Given the description of an element on the screen output the (x, y) to click on. 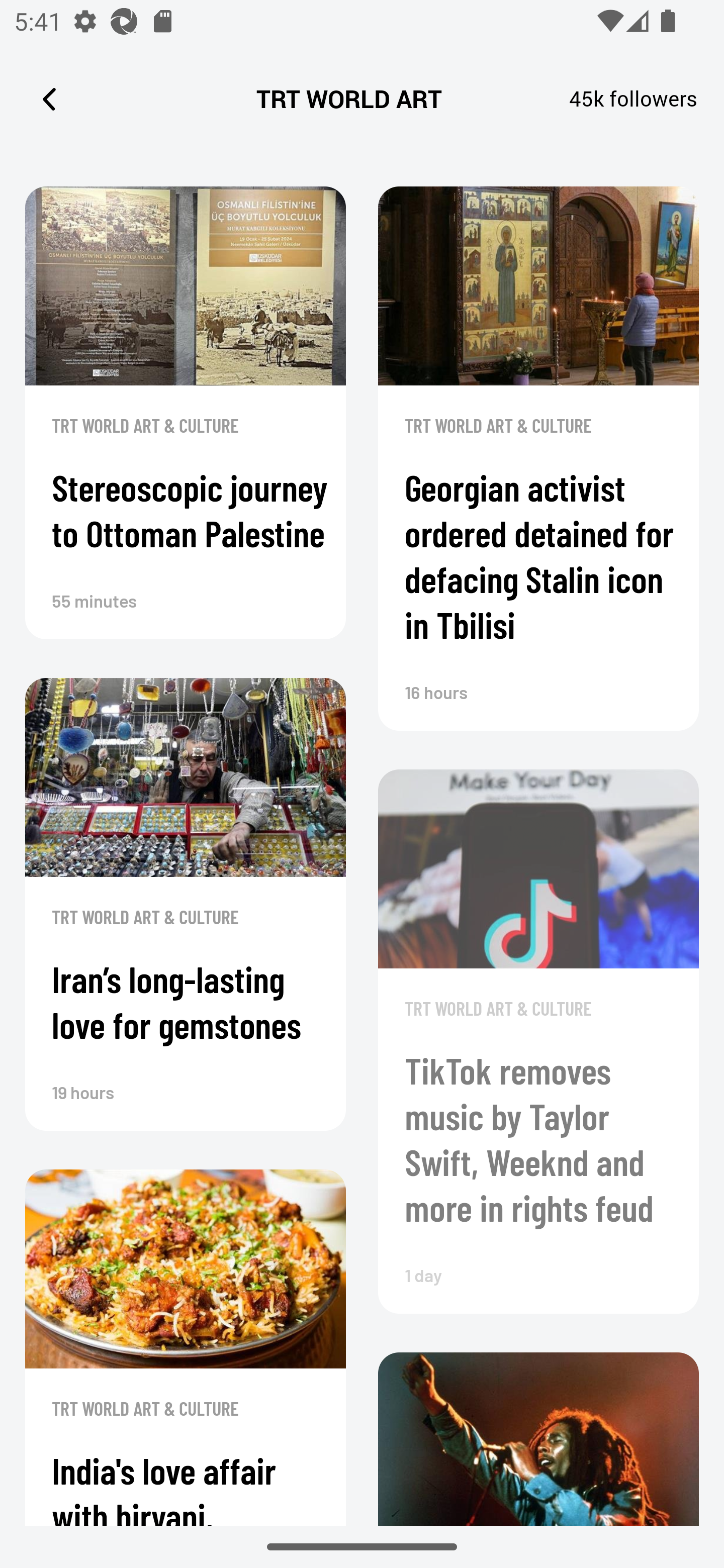
Leading Icon (49, 98)
